Given the description of an element on the screen output the (x, y) to click on. 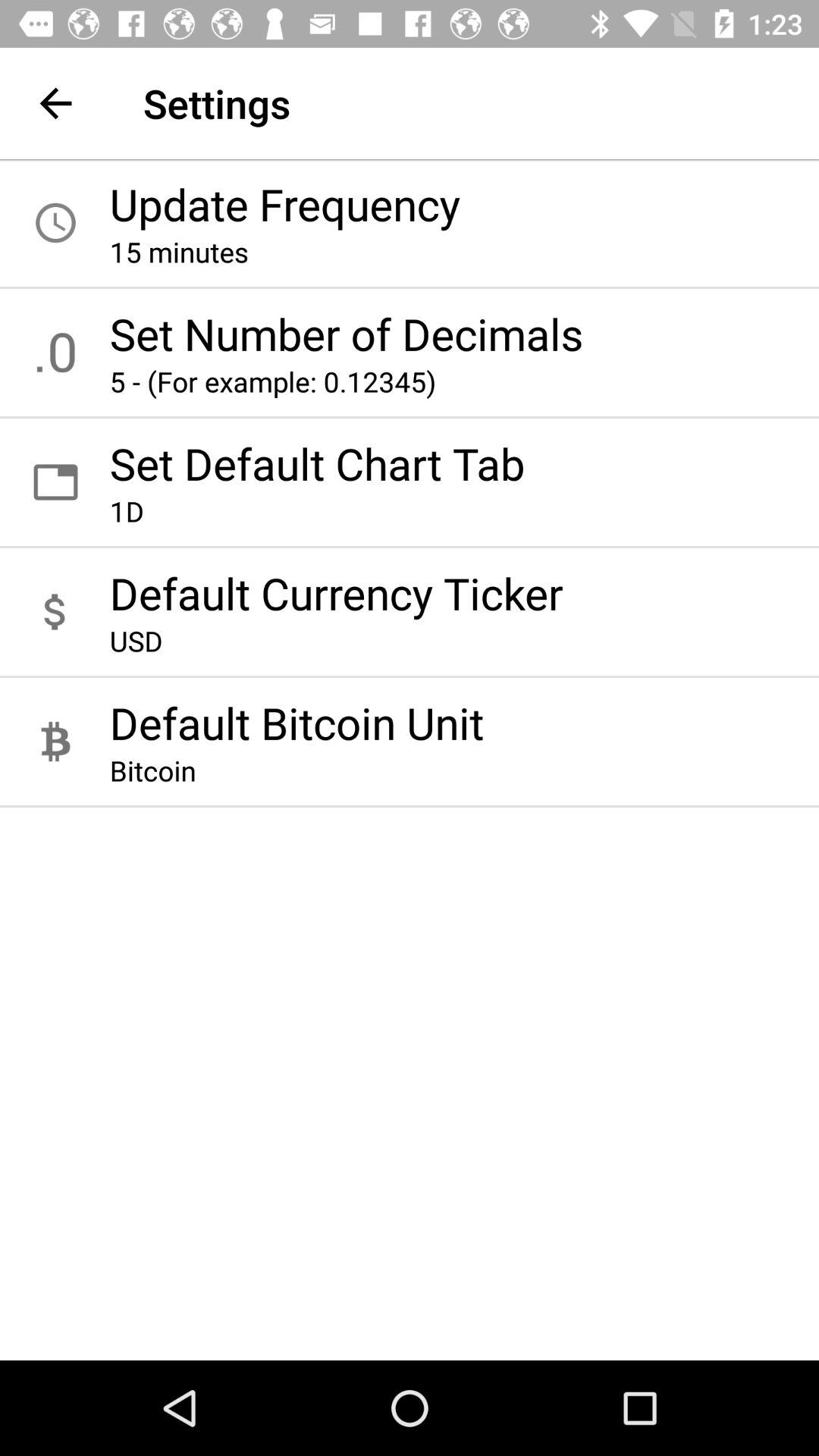
launch icon to the left of the settings item (55, 103)
